Given the description of an element on the screen output the (x, y) to click on. 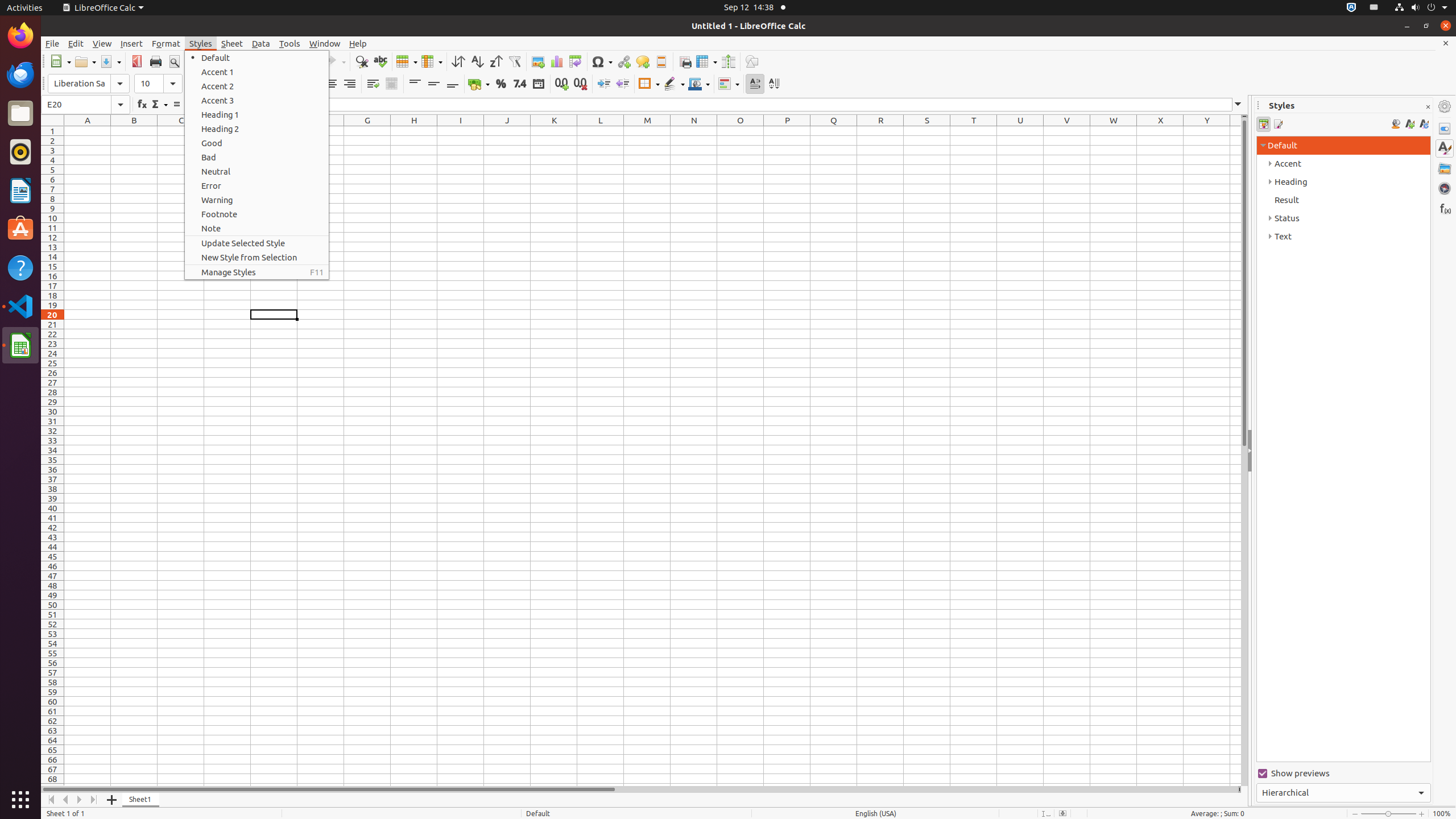
Delete Decimal Place Element type: push-button (580, 83)
Insert Element type: menu (131, 43)
System Element type: menu (1420, 7)
Tools Element type: menu (289, 43)
G1 Element type: table-cell (367, 130)
